Given the description of an element on the screen output the (x, y) to click on. 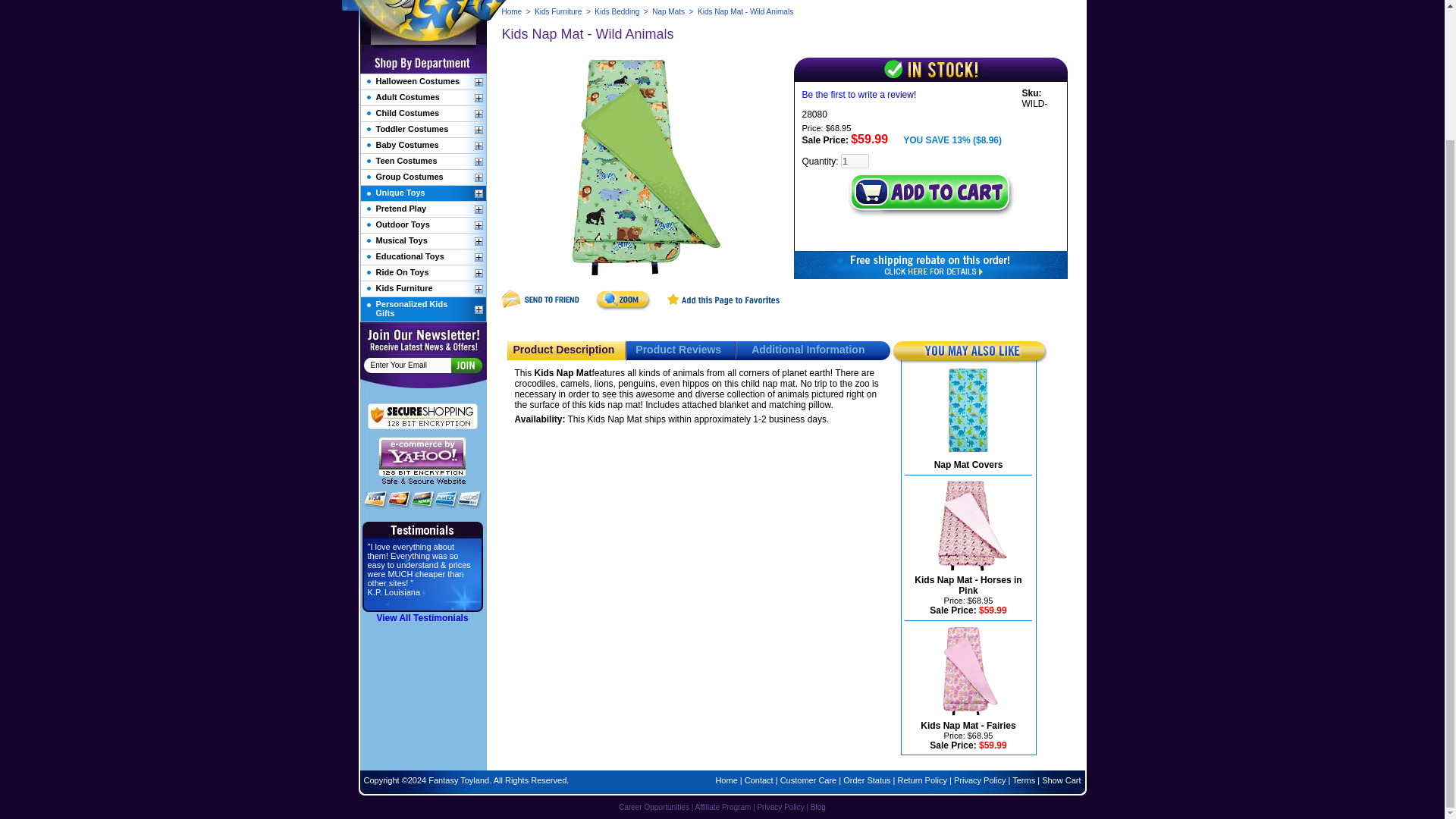
Enter Your Email (409, 365)
Home (512, 11)
Kids Bedding (616, 11)
Product Reviews (677, 349)
bookmark this page (723, 307)
Kids Nap Mat - Wild Animals (642, 169)
Kids Nap Mat - Fairies (967, 725)
Nap Mat Covers (968, 464)
Product Description (563, 349)
Additional Information (807, 349)
Nap Mats (668, 11)
Be the first to write a review! (859, 94)
1 (855, 160)
Kids Furniture (557, 11)
Kids Nap Mat - Horses in Pink (968, 585)
